Given the description of an element on the screen output the (x, y) to click on. 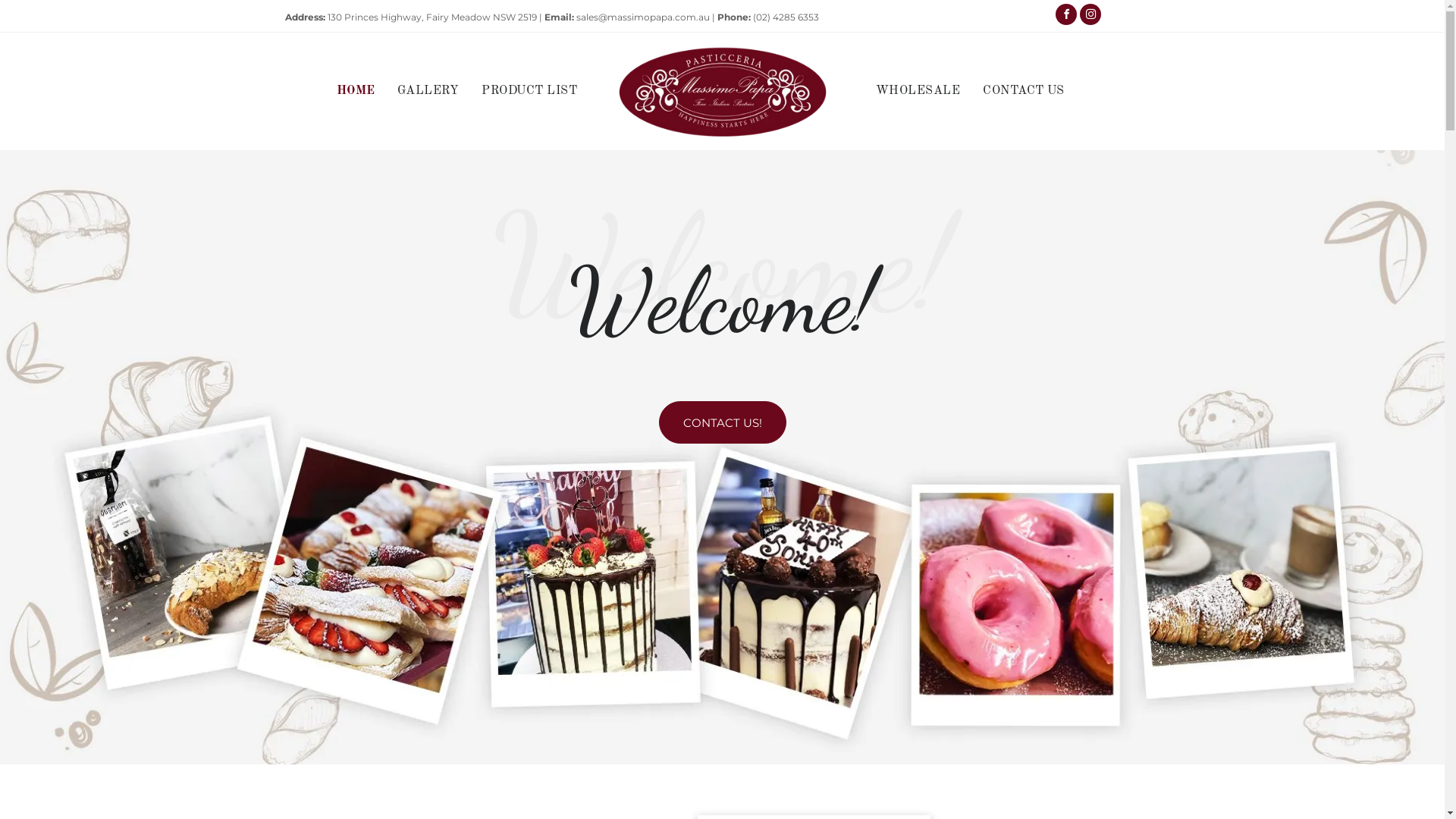
GALLERY Element type: text (427, 90)
PRODUCT LIST Element type: text (529, 90)
HOME Element type: text (355, 90)
CONTACT US! Element type: text (721, 422)
WHOLESALE Element type: text (917, 90)
CONTACT US Element type: text (1023, 90)
